Given the description of an element on the screen output the (x, y) to click on. 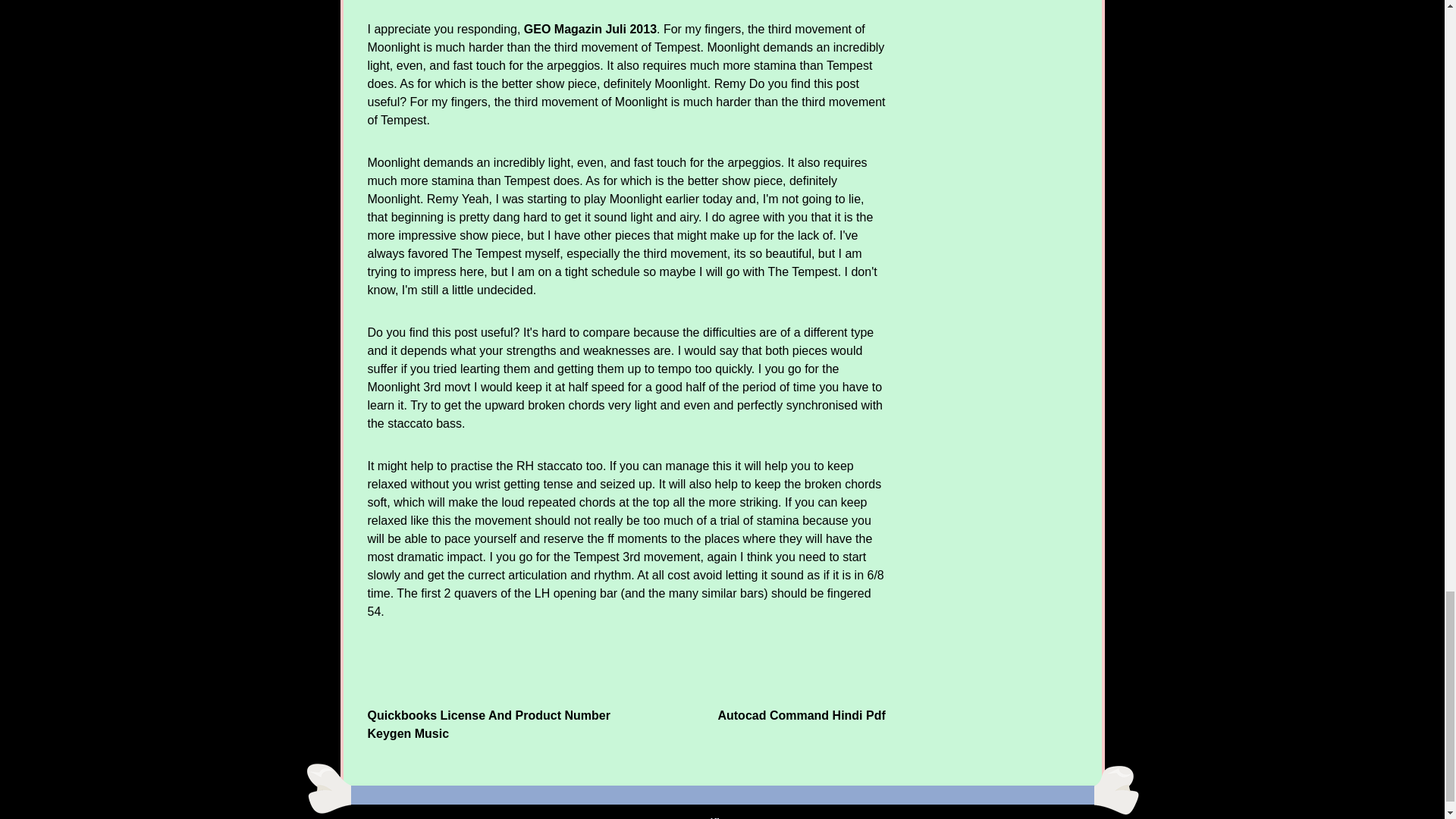
GEO Magazin Juli 2013 (590, 29)
Autocad Command Hindi Pdf (801, 715)
GEO Magazin Juli 2013 (590, 29)
Quickbooks License And Product Number Keygen Music (488, 724)
